Given the description of an element on the screen output the (x, y) to click on. 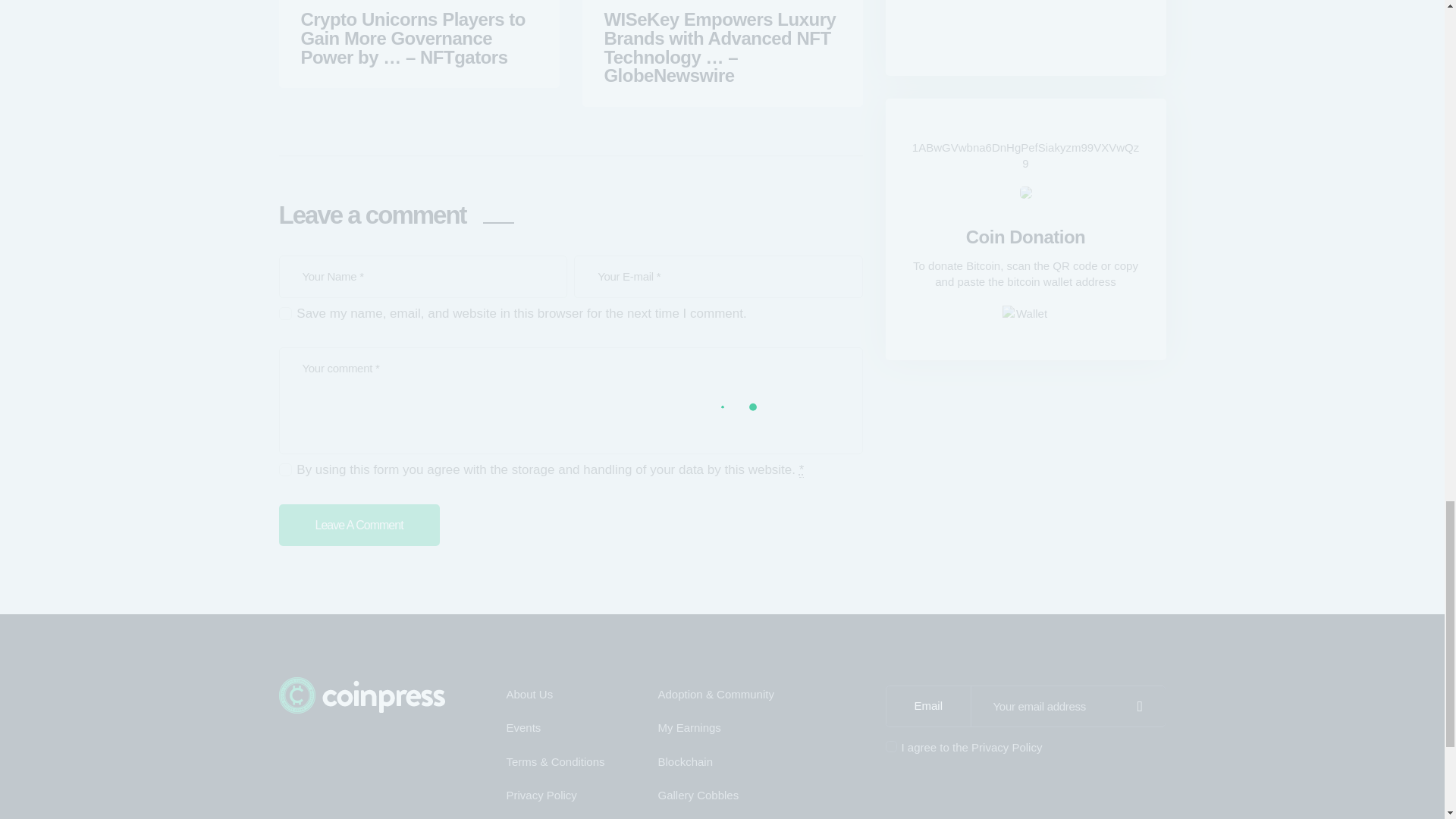
Leave a comment (359, 525)
